Given the description of an element on the screen output the (x, y) to click on. 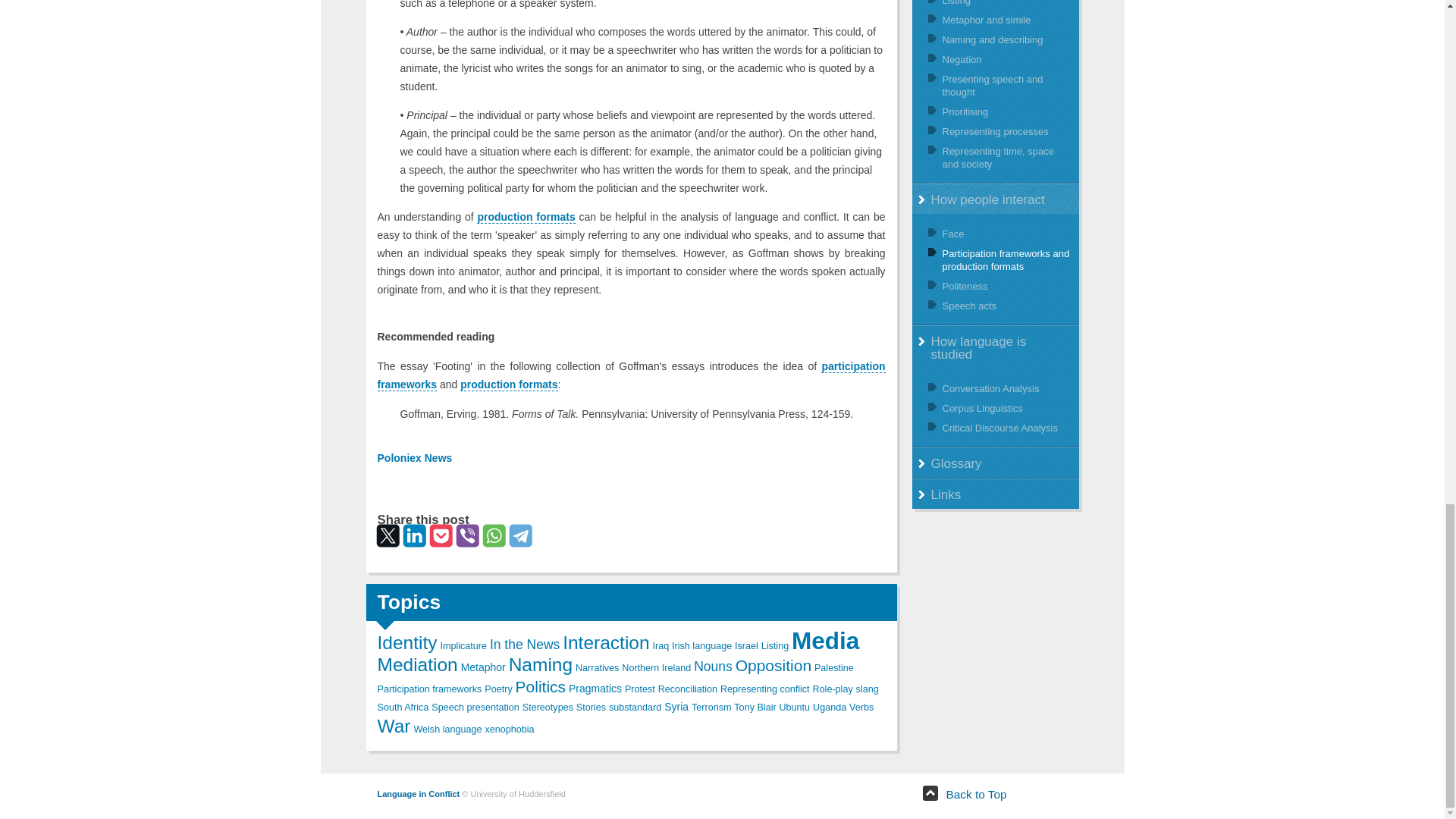
WhatsApp (490, 533)
Twitter (384, 533)
Interaction (605, 642)
participation frameworks (631, 375)
Implicature (462, 645)
Listing (775, 645)
LinkedIn (411, 533)
Media (825, 640)
